Given the description of an element on the screen output the (x, y) to click on. 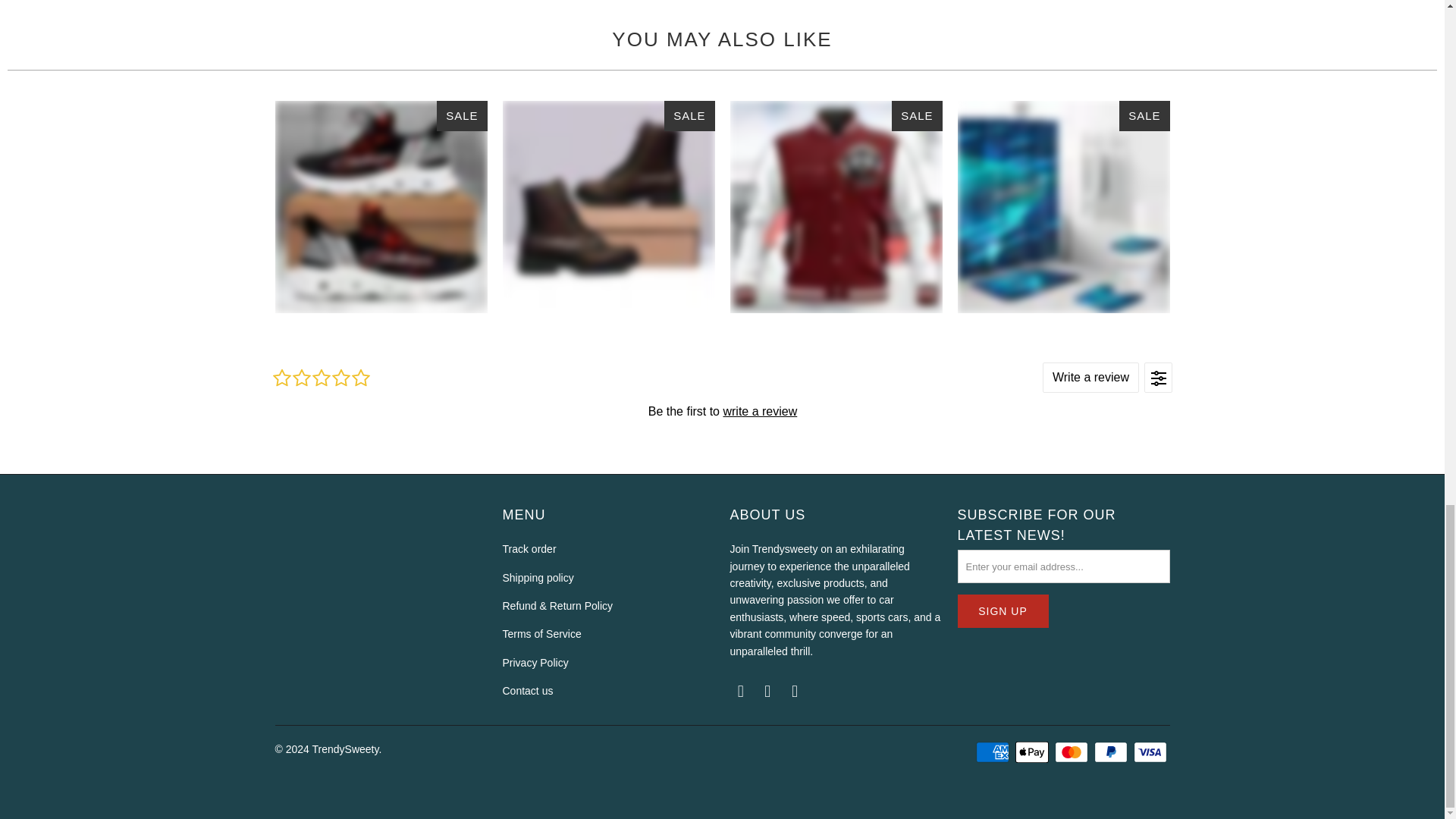
TrendySweety on Instagram (767, 691)
TrendySweety on Facebook (740, 691)
Sign Up (1002, 611)
Email TrendySweety (795, 691)
PayPal (1112, 752)
Mastercard (1072, 752)
Product reviews widget (721, 410)
American Express (993, 752)
Apple Pay (1032, 752)
Visa (1150, 752)
